Given the description of an element on the screen output the (x, y) to click on. 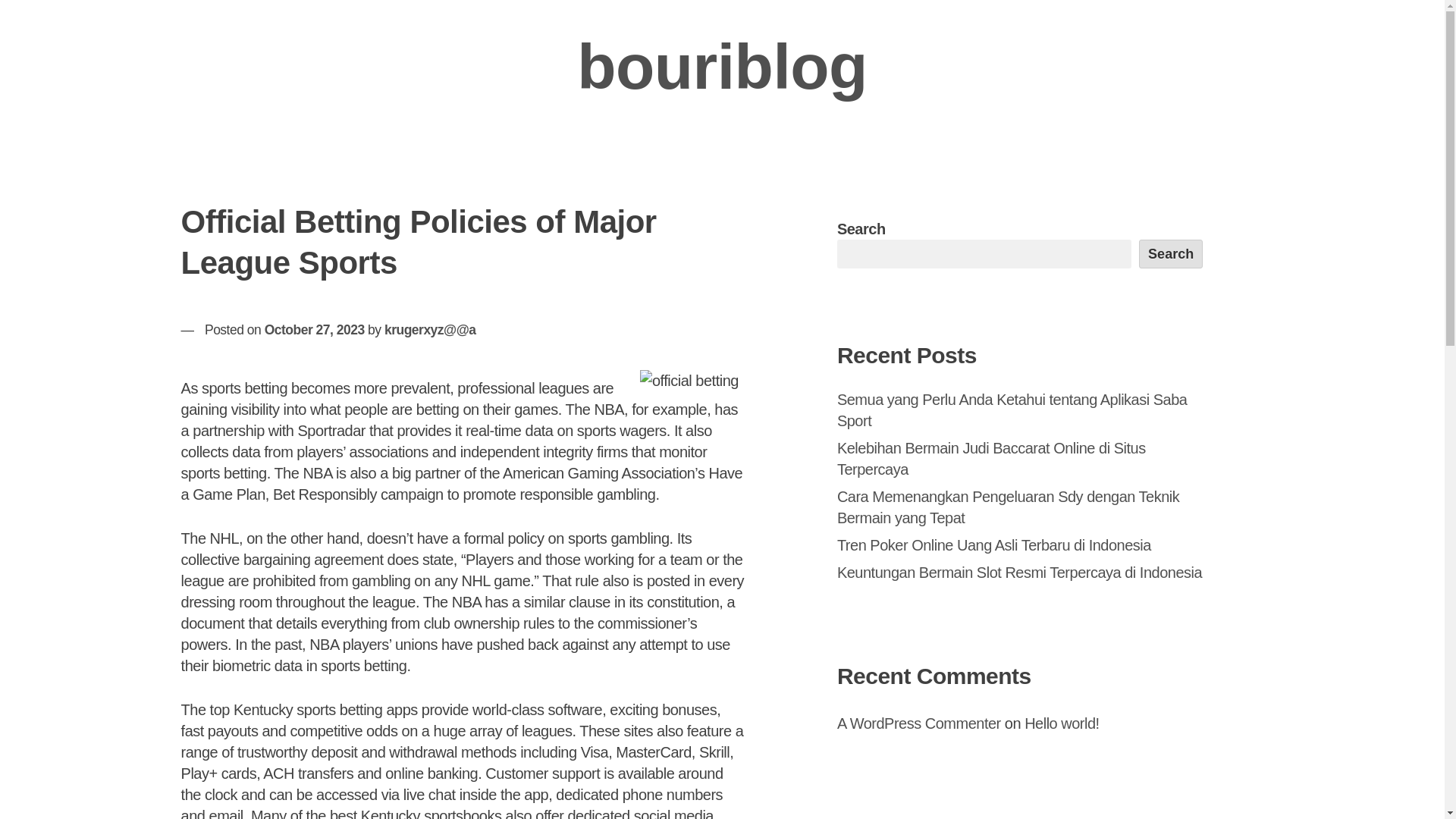
October 27, 2023 (314, 329)
bouriblog (721, 66)
Tren Poker Online Uang Asli Terbaru di Indonesia (994, 545)
Kelebihan Bermain Judi Baccarat Online di Situs Terpercaya (991, 458)
Semua yang Perlu Anda Ketahui tentang Aplikasi Saba Sport (1012, 410)
Search (1171, 253)
Keuntungan Bermain Slot Resmi Terpercaya di Indonesia (1019, 572)
Hello world! (1062, 723)
A WordPress Commenter (919, 723)
